Given the description of an element on the screen output the (x, y) to click on. 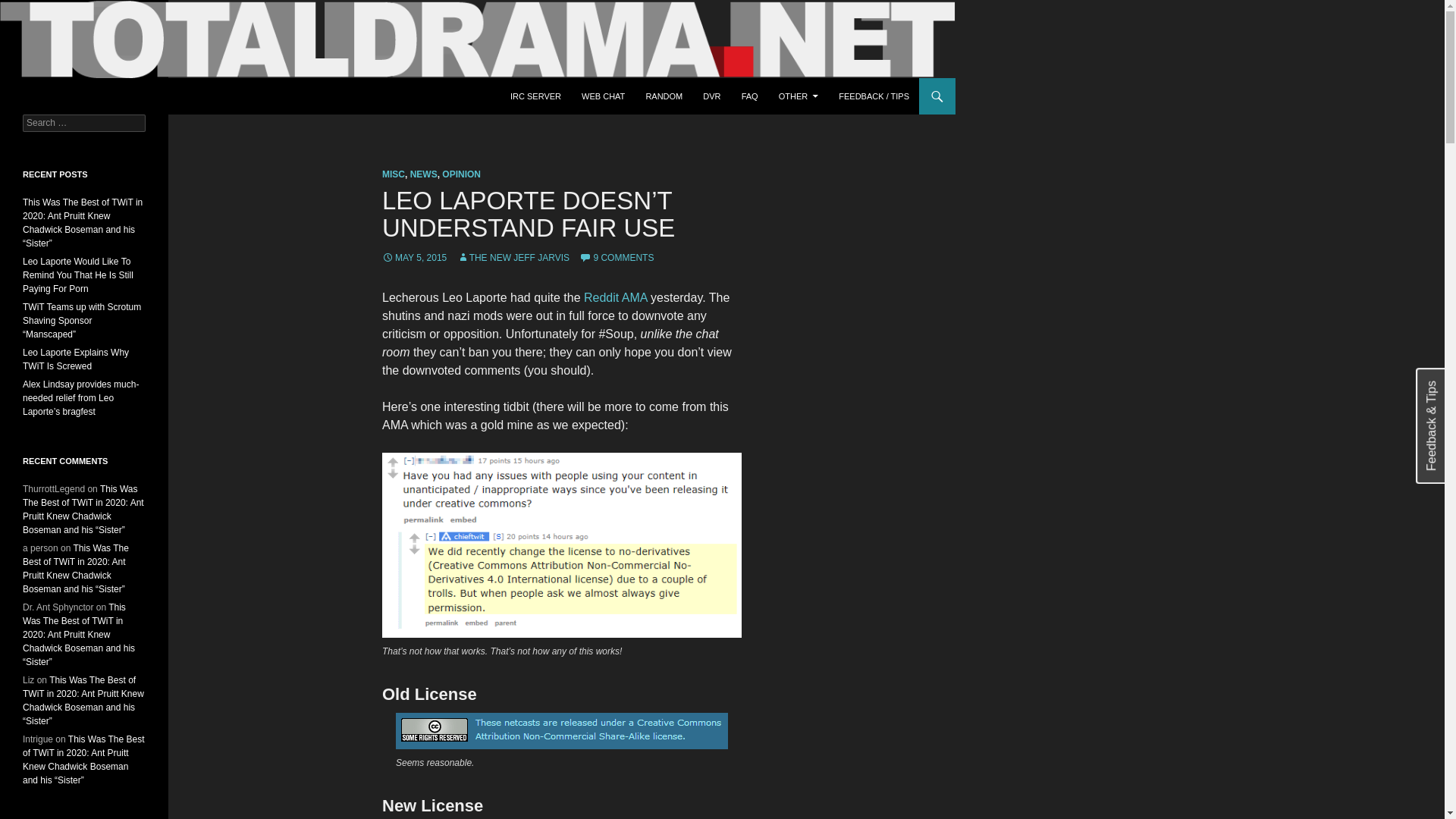
IRC SERVER (535, 95)
NEWS (424, 173)
Reddit AMA (615, 297)
MAY 5, 2015 (413, 257)
TWiT Total Drama (80, 95)
OTHER (799, 95)
9 COMMENTS (616, 257)
THE NEW JEFF JARVIS (513, 257)
MISC (392, 173)
RANDOM (663, 95)
WEB CHAT (602, 95)
FAQ (749, 95)
DVR (711, 95)
